Given the description of an element on the screen output the (x, y) to click on. 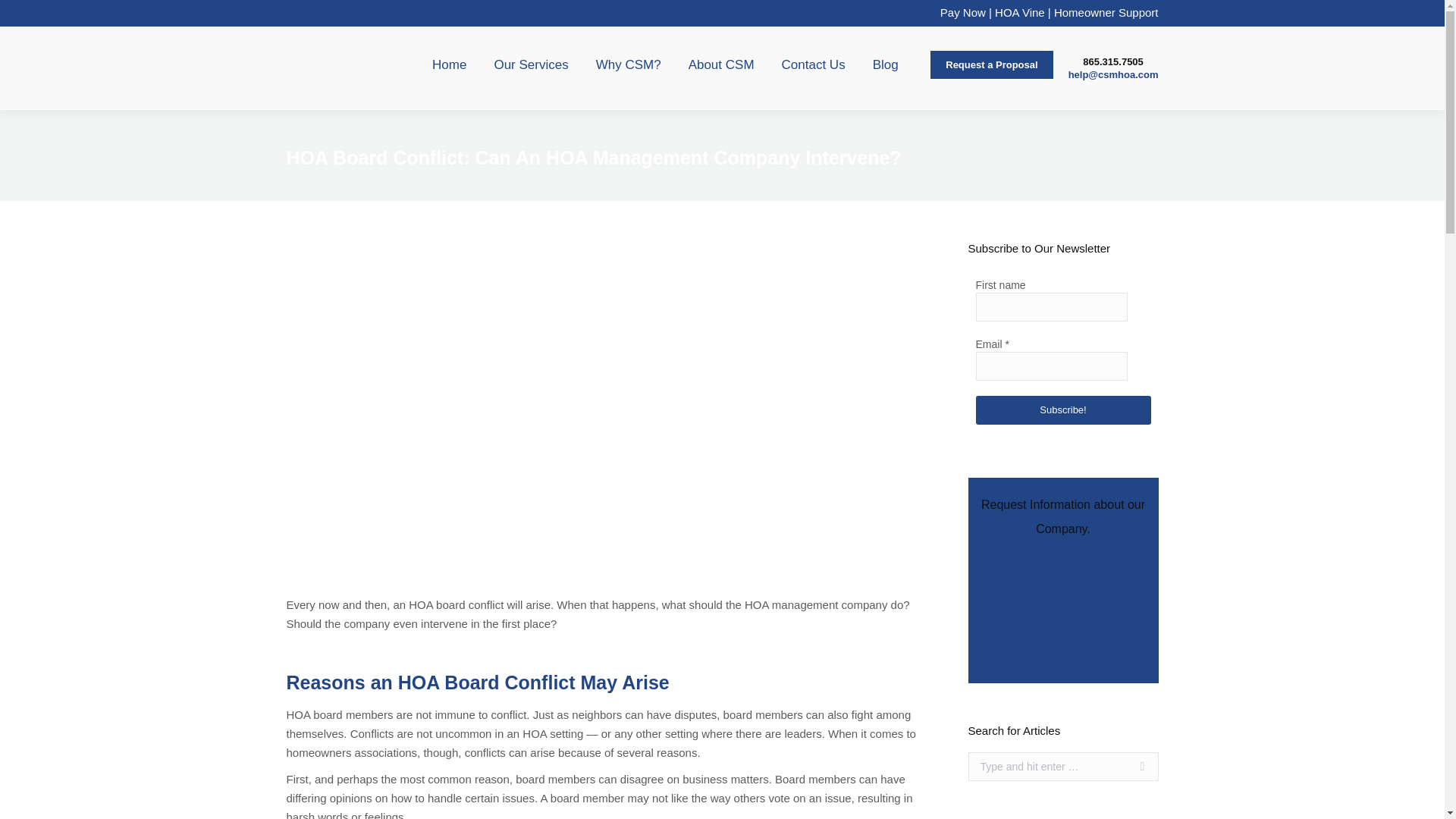
Request a Proposal (990, 63)
Homeowner Support (1106, 11)
HOA Vine (1019, 11)
Pay Now (962, 11)
Our Services (530, 64)
Home (448, 64)
Email (1050, 366)
Blog (885, 64)
About CSM (721, 64)
Subscribe! (1062, 410)
